Given the description of an element on the screen output the (x, y) to click on. 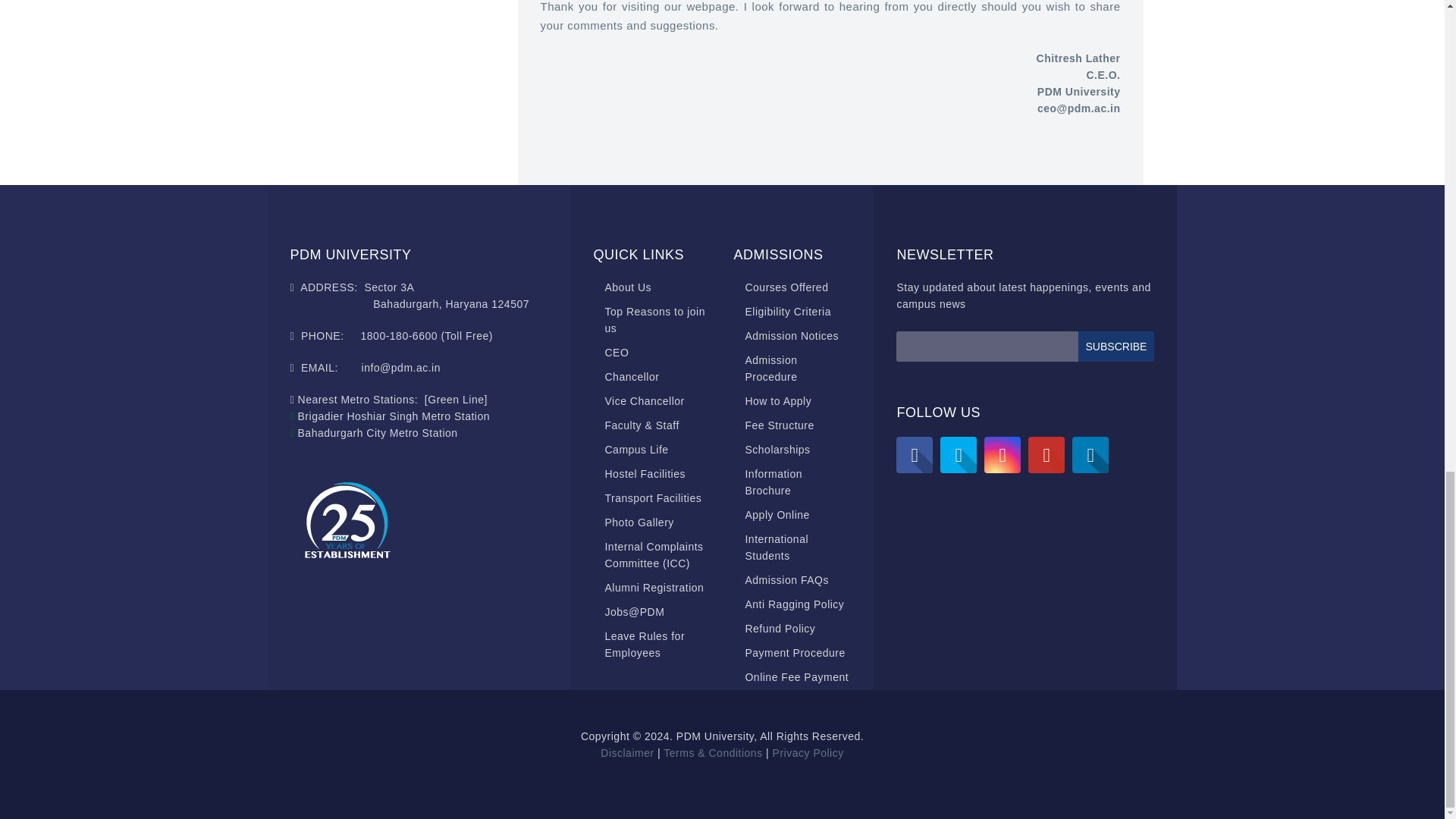
DMCA (692, 786)
DMCA (741, 786)
Subscribe (1116, 346)
